Given the description of an element on the screen output the (x, y) to click on. 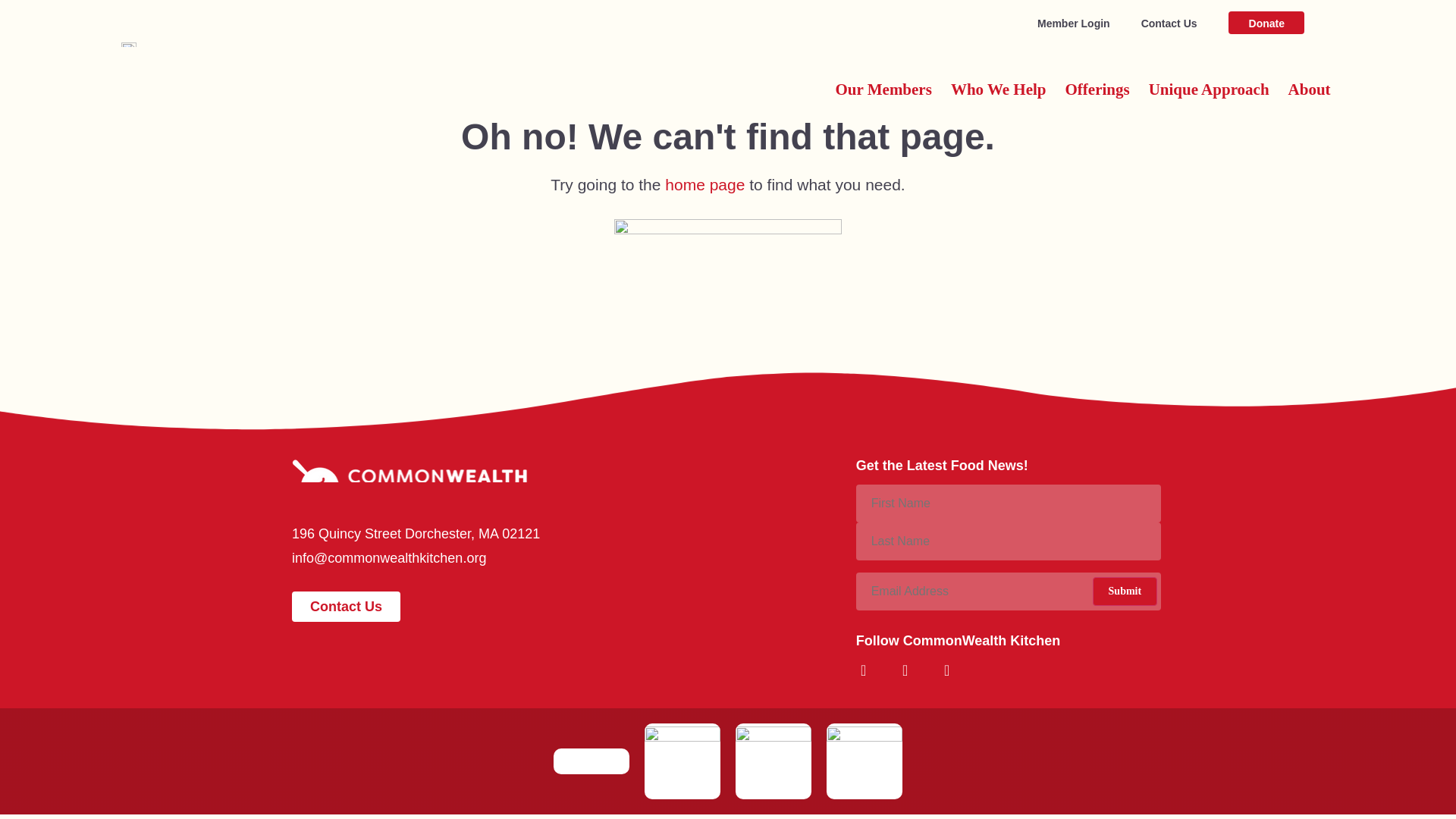
Submit (1125, 591)
Contact Us (1168, 22)
Unique Approach (1208, 89)
Offerings (1097, 89)
Member Login (1072, 22)
Who We Help (998, 89)
Our Members (883, 89)
Donate (1266, 22)
About (1309, 89)
